Given the description of an element on the screen output the (x, y) to click on. 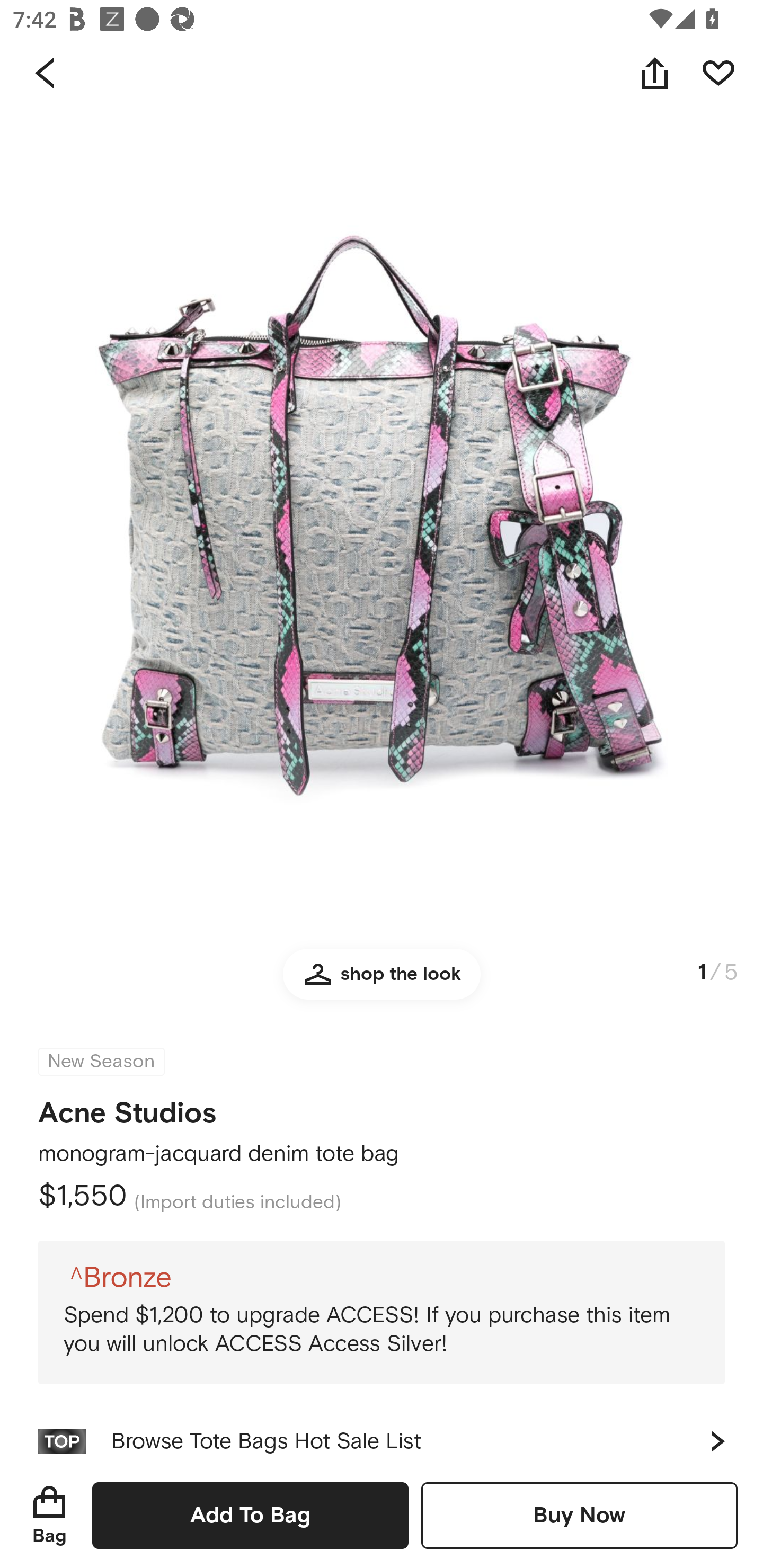
shop the look (381, 982)
Acne Studios (126, 1107)
Browse Tote Bags Hot Sale List (381, 1432)
Bag (49, 1515)
Add To Bag (250, 1515)
Buy Now (579, 1515)
